Given the description of an element on the screen output the (x, y) to click on. 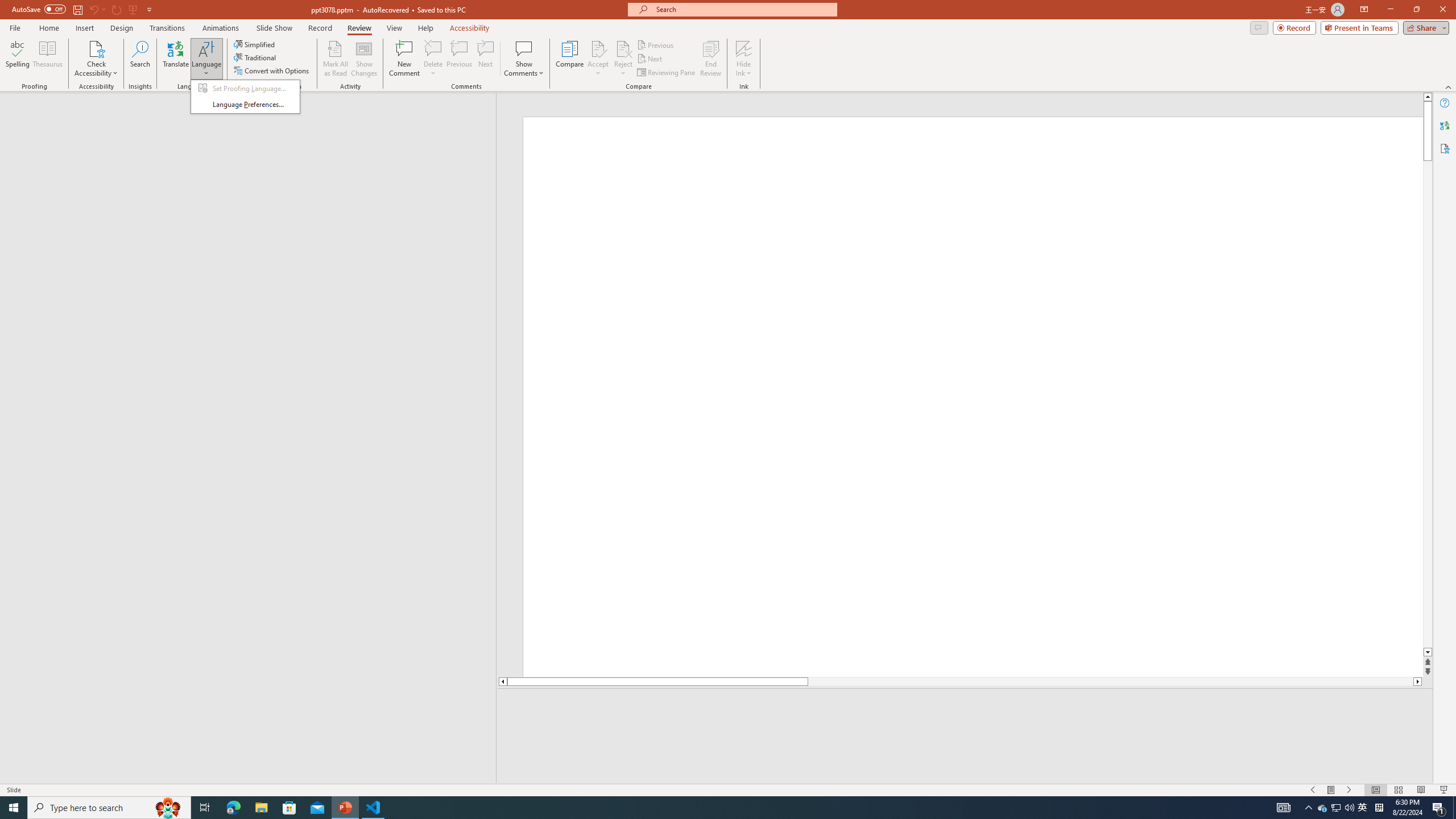
Accept (598, 58)
End Review (710, 58)
Previous (655, 44)
New Comment (403, 58)
